Given the description of an element on the screen output the (x, y) to click on. 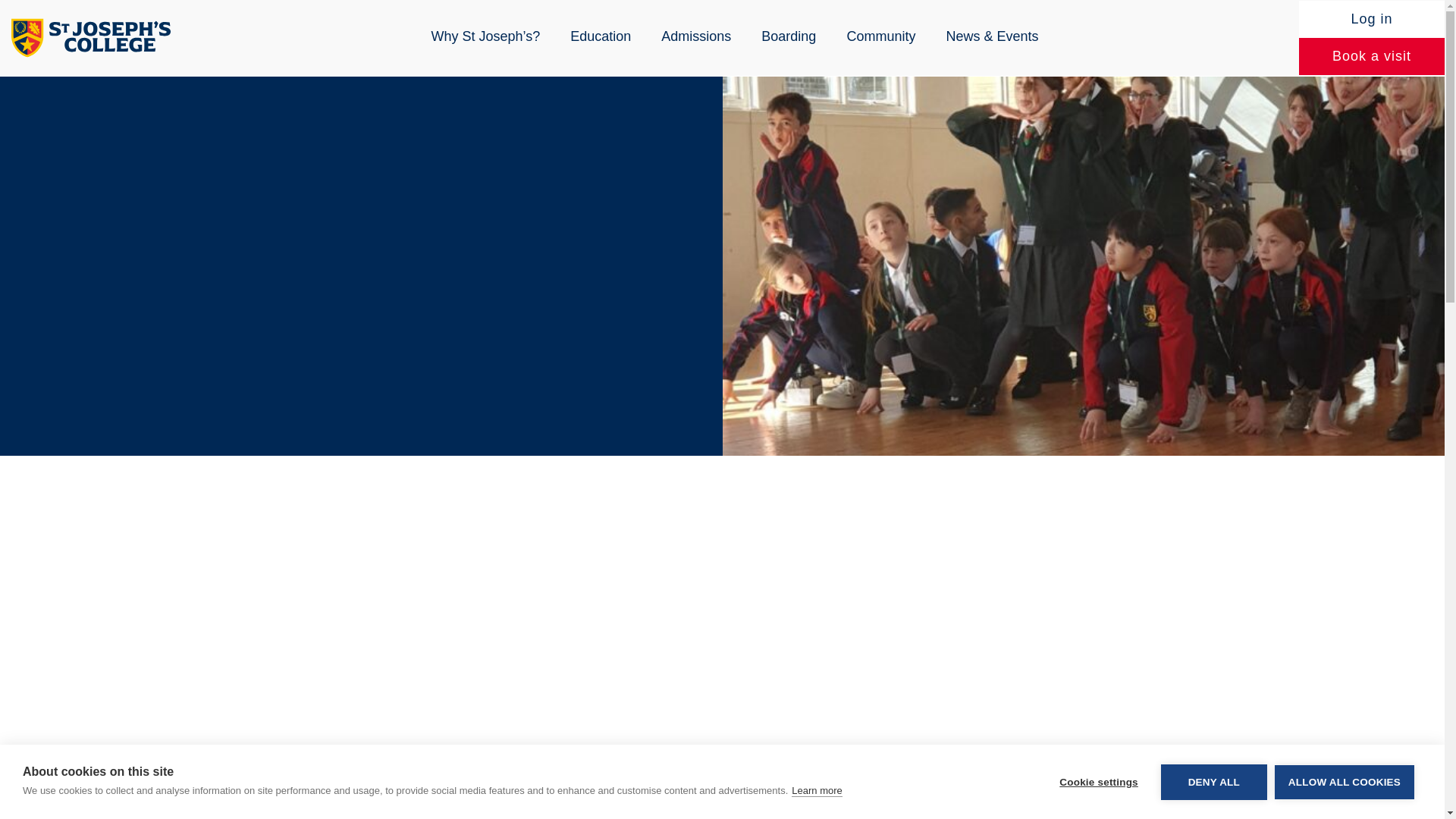
Community (880, 36)
Boarding (788, 36)
Education (600, 36)
DENY ALL (1213, 807)
Cookie settings (1098, 816)
ALLOW ALL COOKIES (1344, 800)
Admissions (695, 36)
